Given the description of an element on the screen output the (x, y) to click on. 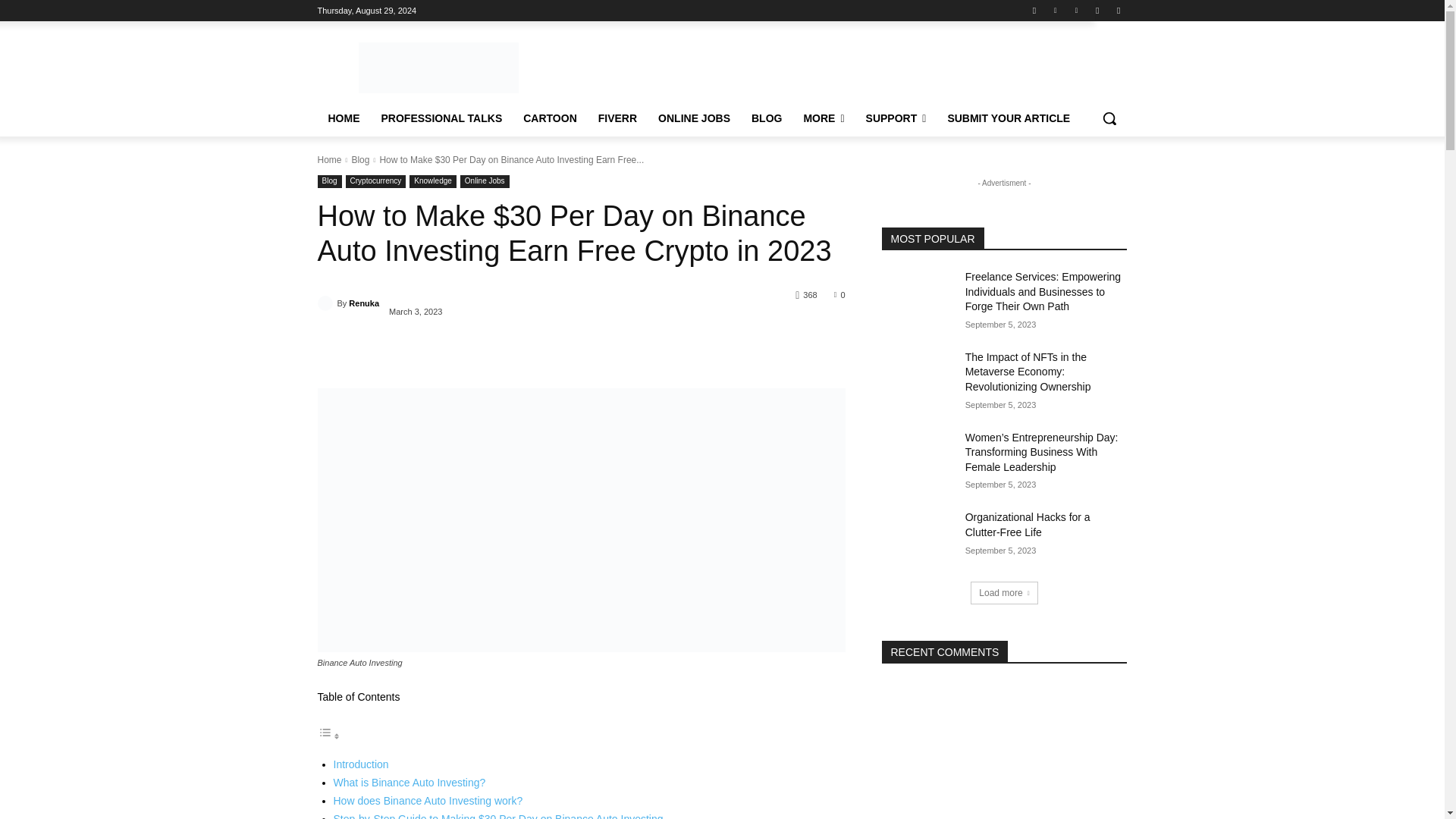
View all posts in Blog (359, 159)
Facebook (1034, 9)
PROFESSIONAL TALKS (440, 117)
Linkedin (1055, 9)
Renuka (326, 303)
HOME (343, 117)
Youtube (1117, 9)
Twitter (1097, 9)
Pinterest (1075, 9)
